Given the description of an element on the screen output the (x, y) to click on. 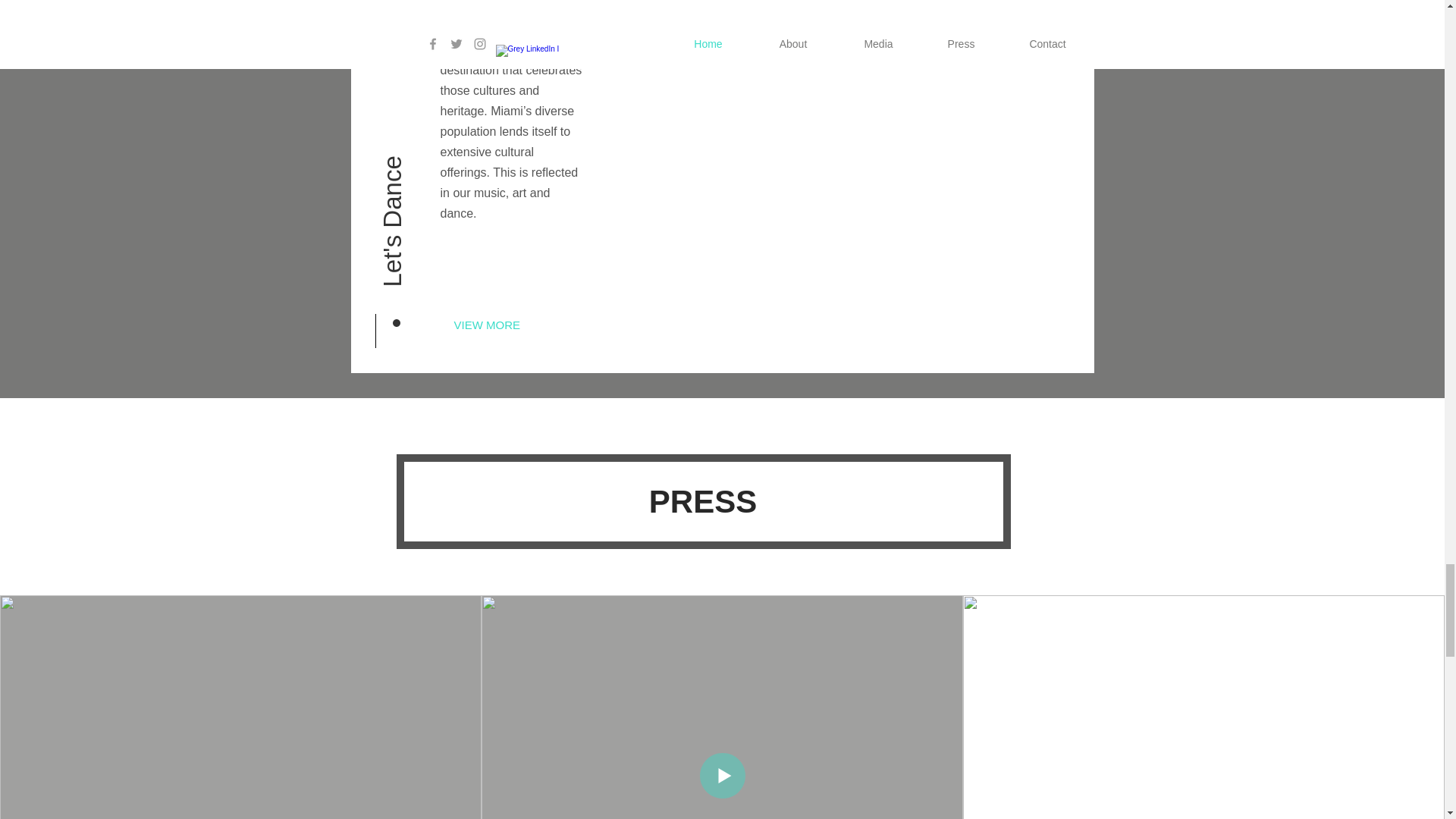
VIEW MORE (502, 324)
